Given the description of an element on the screen output the (x, y) to click on. 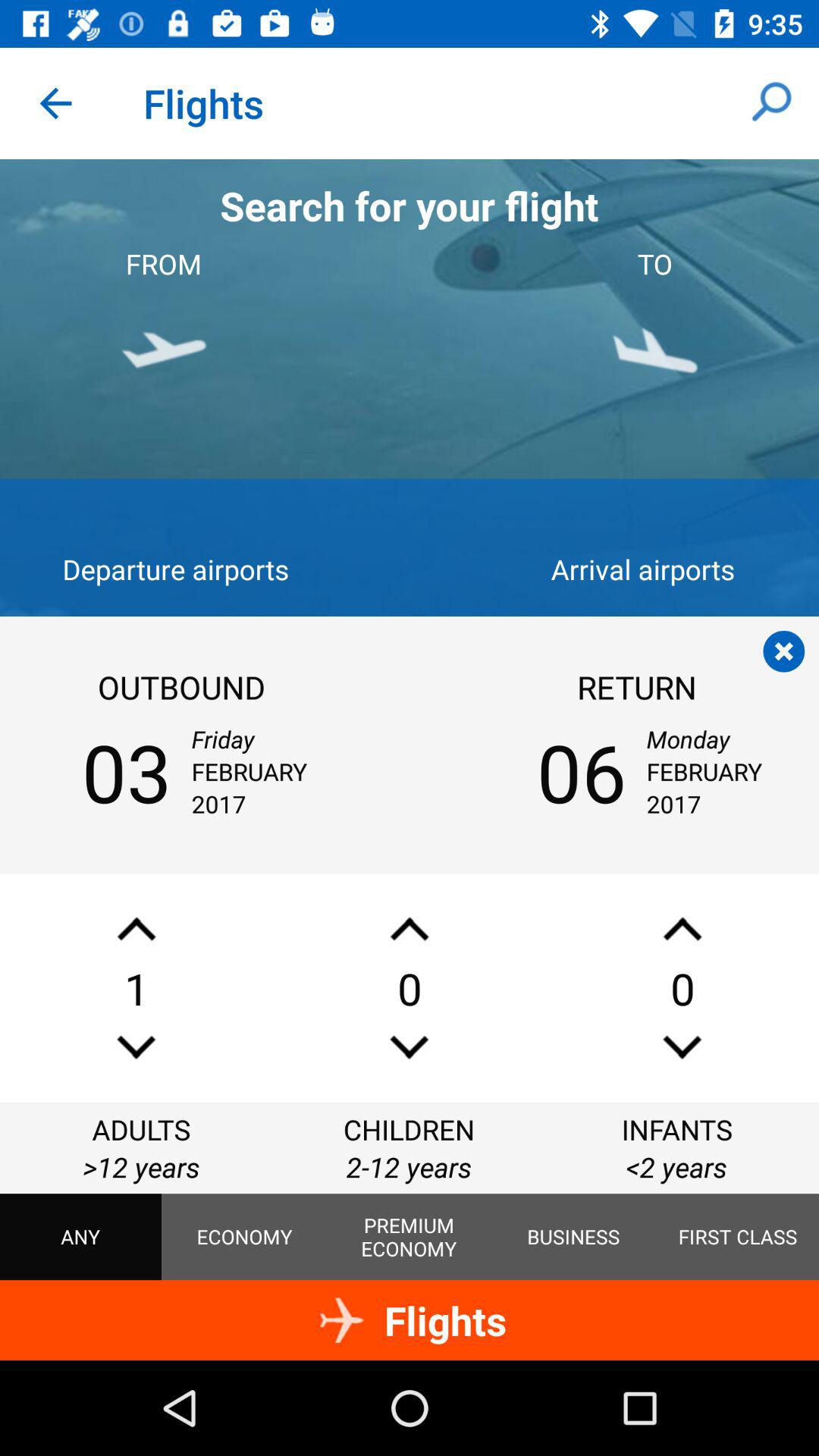
down grade button (682, 1047)
